Given the description of an element on the screen output the (x, y) to click on. 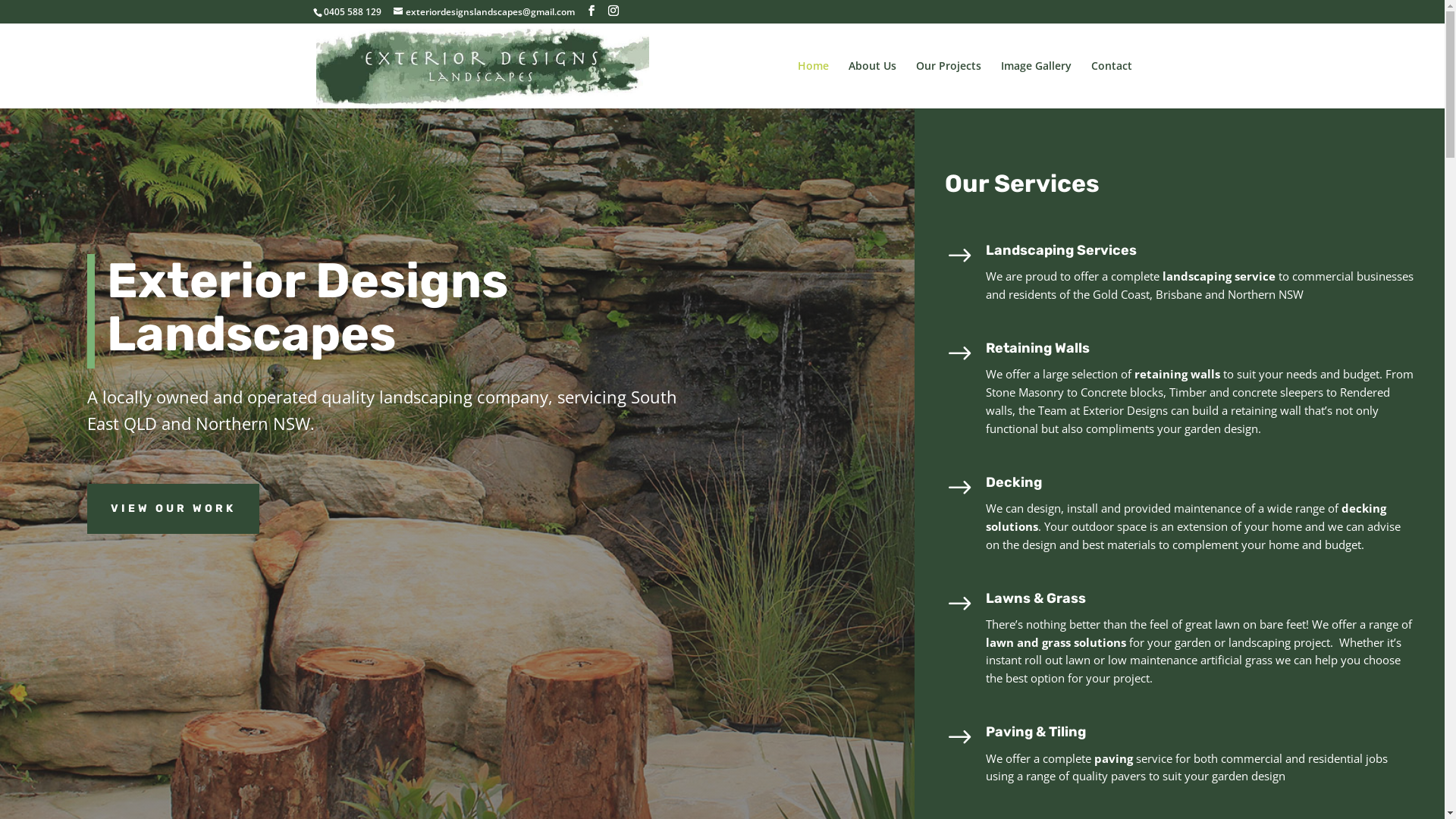
Contact Element type: text (1110, 84)
About Us Element type: text (871, 84)
exteriordesignslandscapes@gmail.com Element type: text (483, 11)
Home Element type: text (812, 84)
VIEW OUR WORK Element type: text (173, 508)
Image Gallery Element type: text (1036, 84)
Our Projects Element type: text (948, 84)
